Given the description of an element on the screen output the (x, y) to click on. 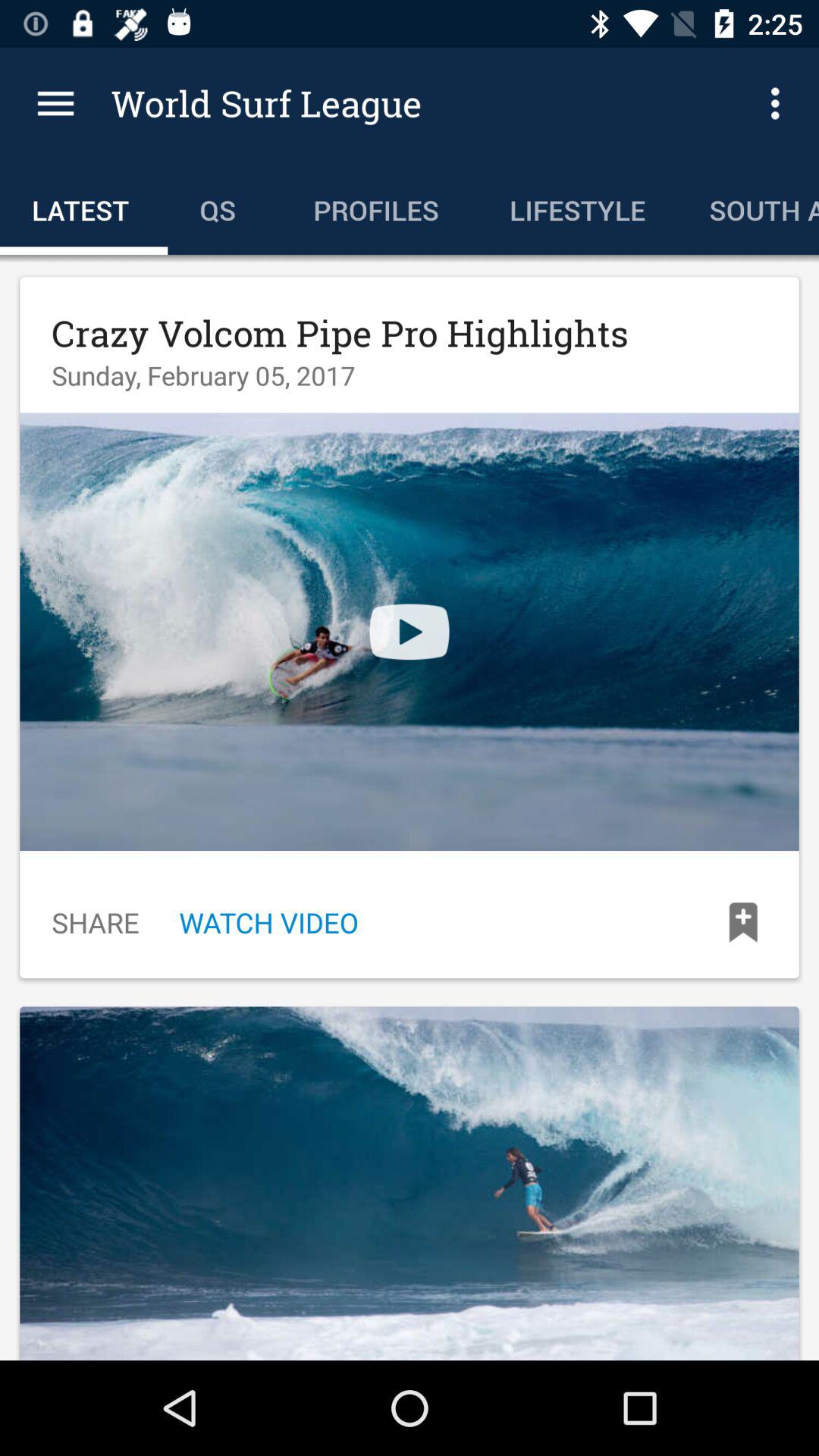
choose the icon to the right of share icon (268, 922)
